Given the description of an element on the screen output the (x, y) to click on. 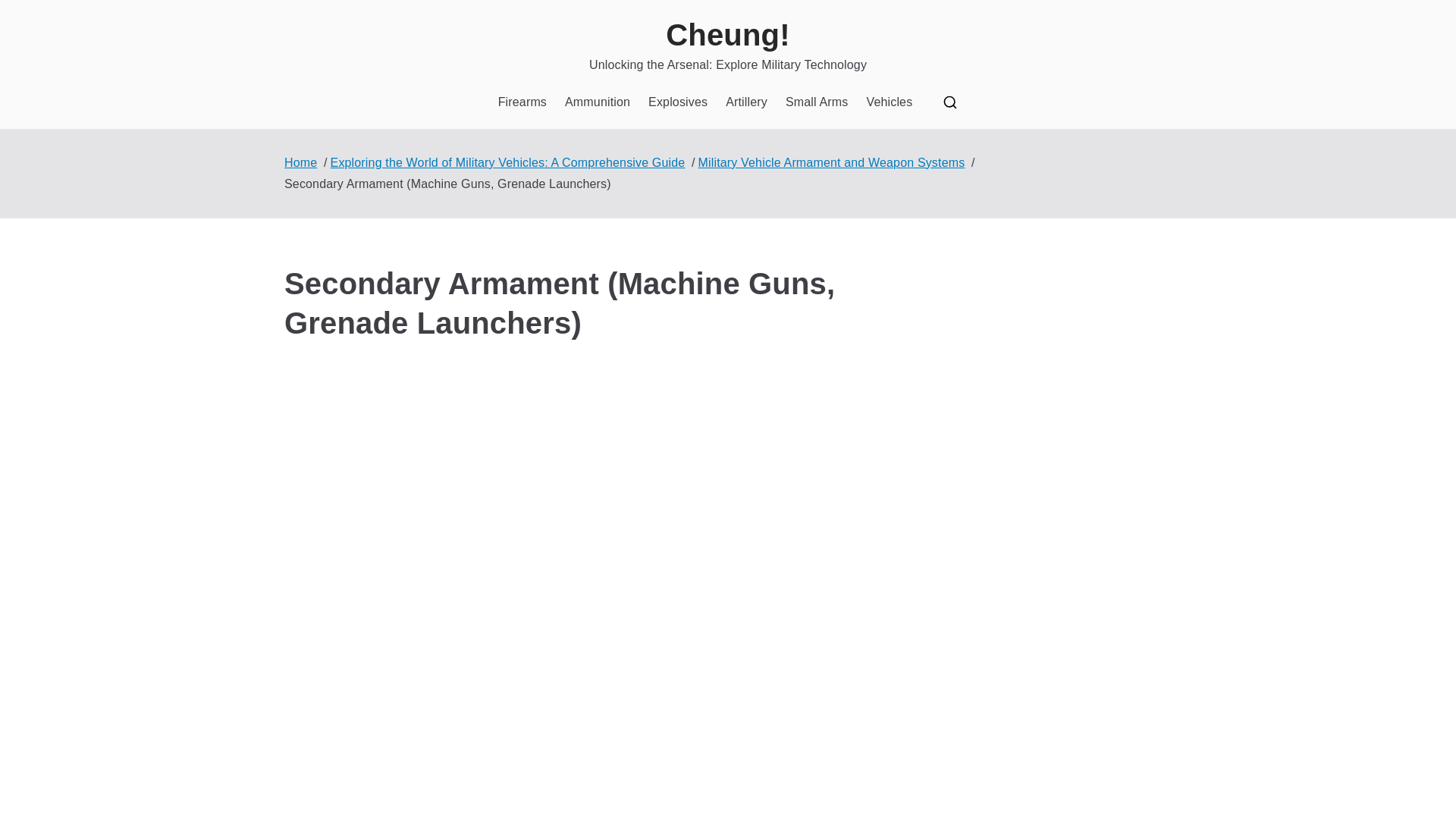
Home (300, 162)
Military Vehicle Armament and Weapon Systems (831, 162)
Explosives (677, 102)
Small Arms (817, 102)
Firearms (522, 102)
Search (26, 12)
Cheung! (727, 34)
Artillery (746, 102)
Ammunition (597, 102)
Vehicles (889, 102)
